Given the description of an element on the screen output the (x, y) to click on. 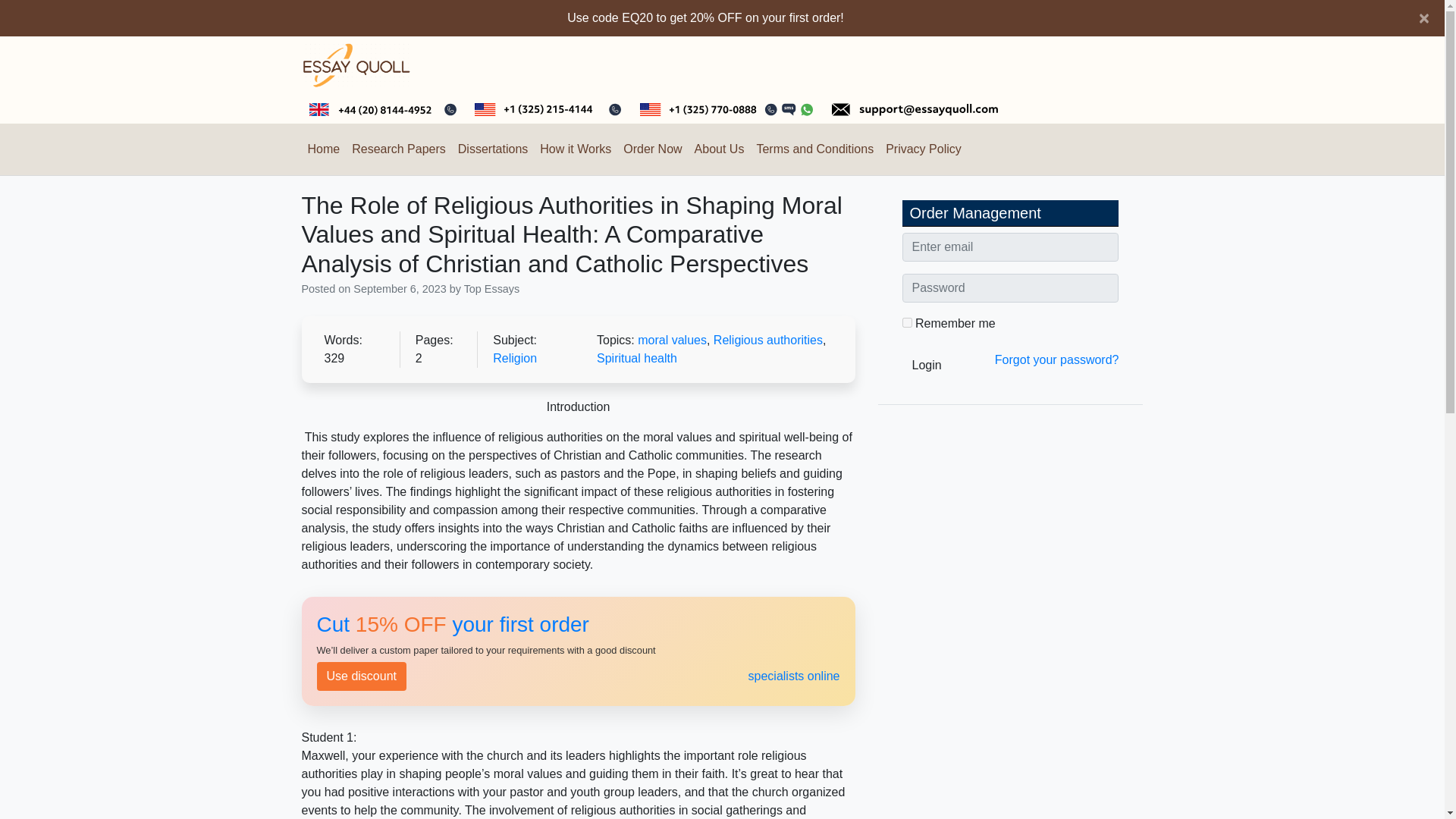
moral values (671, 339)
How it Works (575, 149)
Terms and Conditions (814, 149)
Recover password (1056, 359)
Spiritual health (636, 358)
About Us (719, 149)
on (907, 322)
Privacy Policy (923, 149)
Essay Quoll (349, 102)
Dissertations (492, 149)
